Given the description of an element on the screen output the (x, y) to click on. 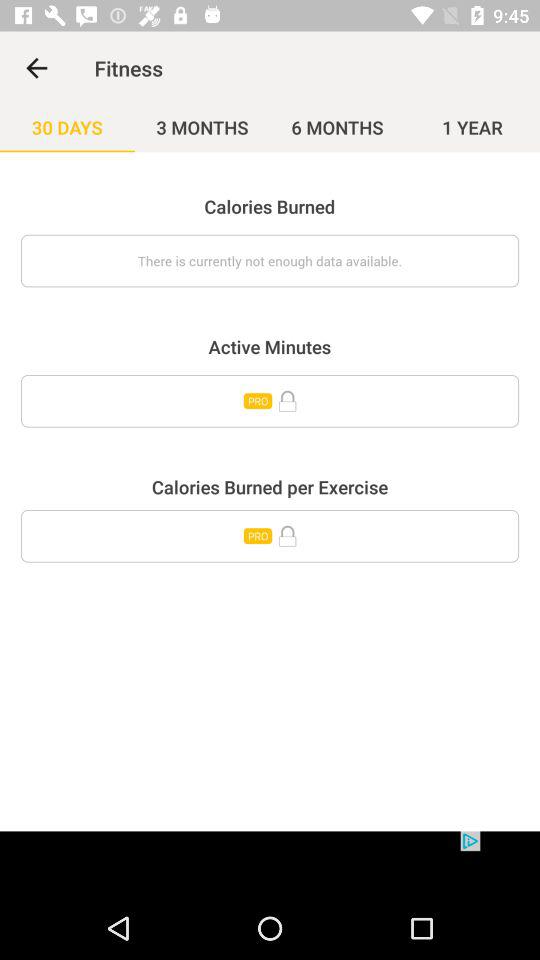
digit the text (269, 536)
